Given the description of an element on the screen output the (x, y) to click on. 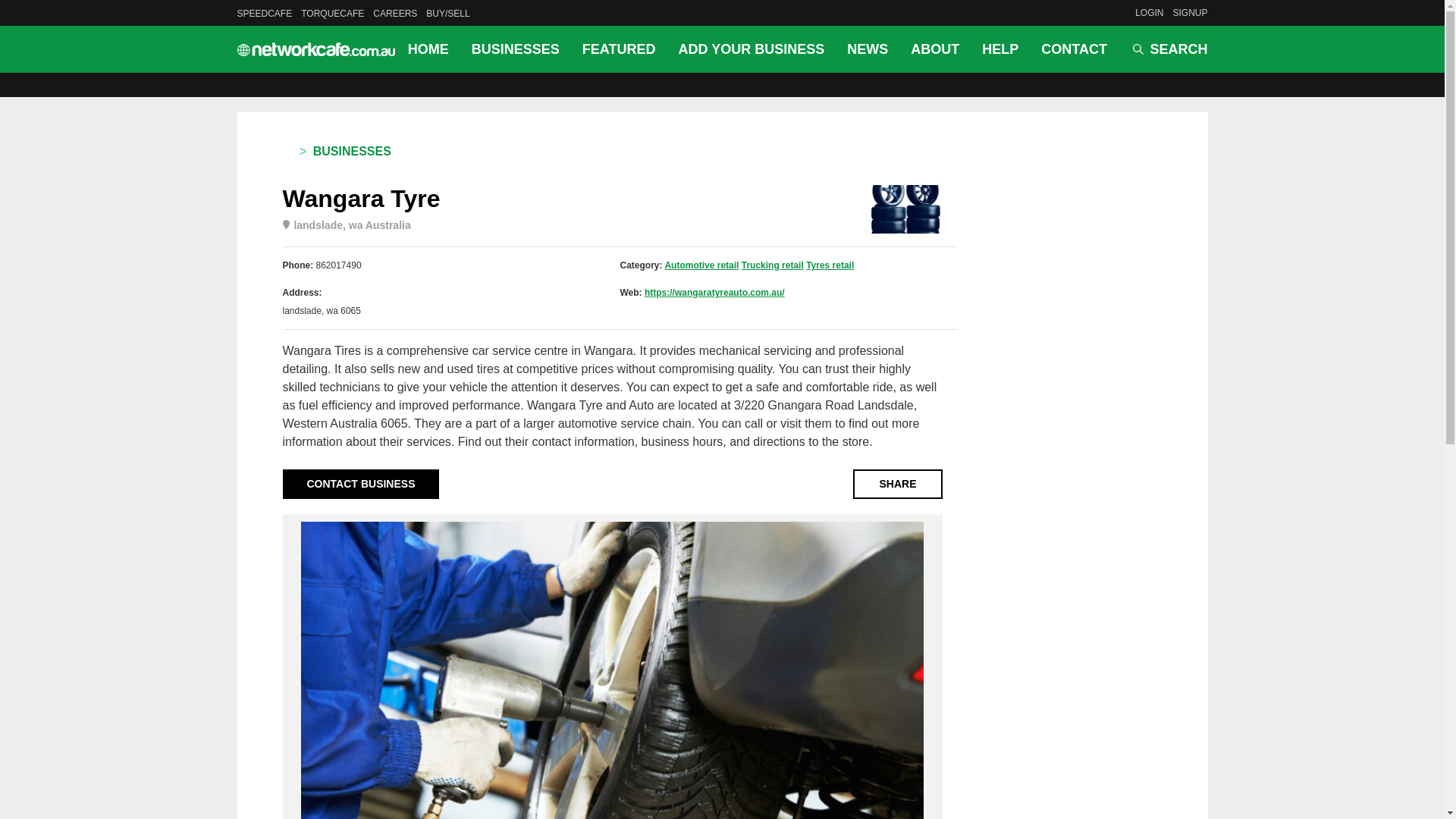
CONTACT (1067, 48)
CAREERS (394, 13)
LOGIN (1149, 12)
ADD YOUR BUSINESS (750, 48)
NEWS (867, 48)
SIGNUP (1189, 12)
HELP (1000, 48)
ABOUT (935, 48)
SEARCH (1169, 48)
BUSINESSES (515, 48)
